Given the description of an element on the screen output the (x, y) to click on. 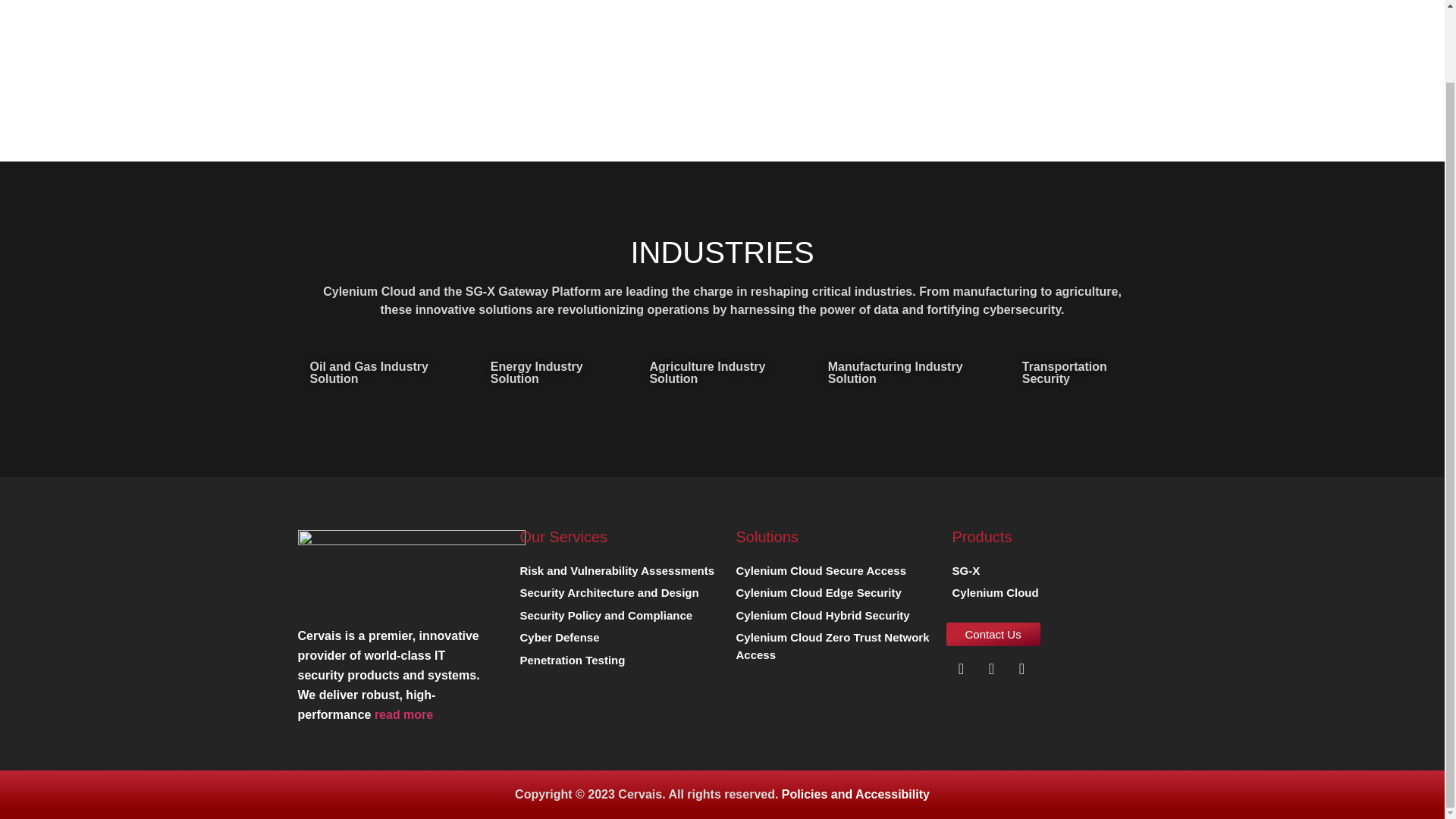
Cylenium Cloud Edge Security (815, 595)
Cylenium Cloud Hybrid Security (818, 618)
Risk and Vulnerability Assessments (613, 573)
Security Policy and Compliance (603, 618)
Security Architecture and Design (605, 595)
read more (403, 714)
Cyber Defense (556, 640)
Penetration Testing (569, 662)
Cylenium Cloud Secure Access (817, 573)
